Given the description of an element on the screen output the (x, y) to click on. 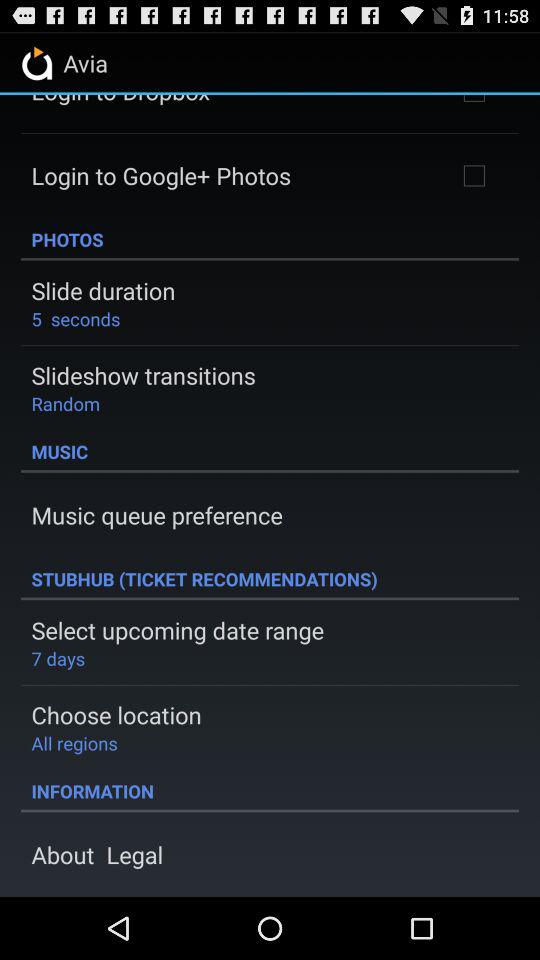
turn on slideshow transitions item (143, 375)
